Given the description of an element on the screen output the (x, y) to click on. 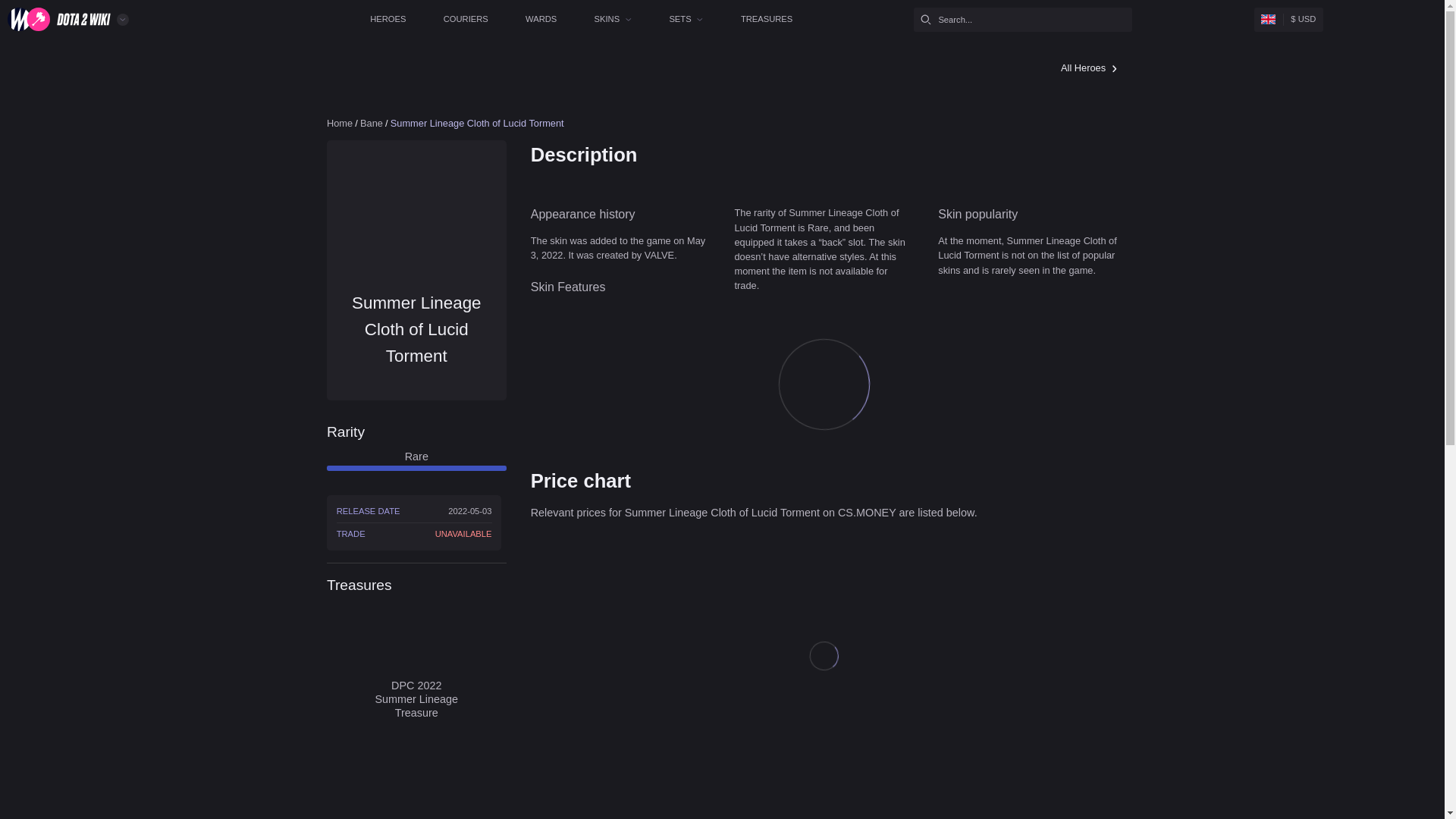
All Heroes (1361, 85)
TREASURES (957, 23)
WARDS (675, 23)
Home (425, 153)
HEROES (484, 23)
DPC 2022 Summer Lineage Treasure (520, 785)
Bane (464, 153)
COURIERS (582, 23)
